Given the description of an element on the screen output the (x, y) to click on. 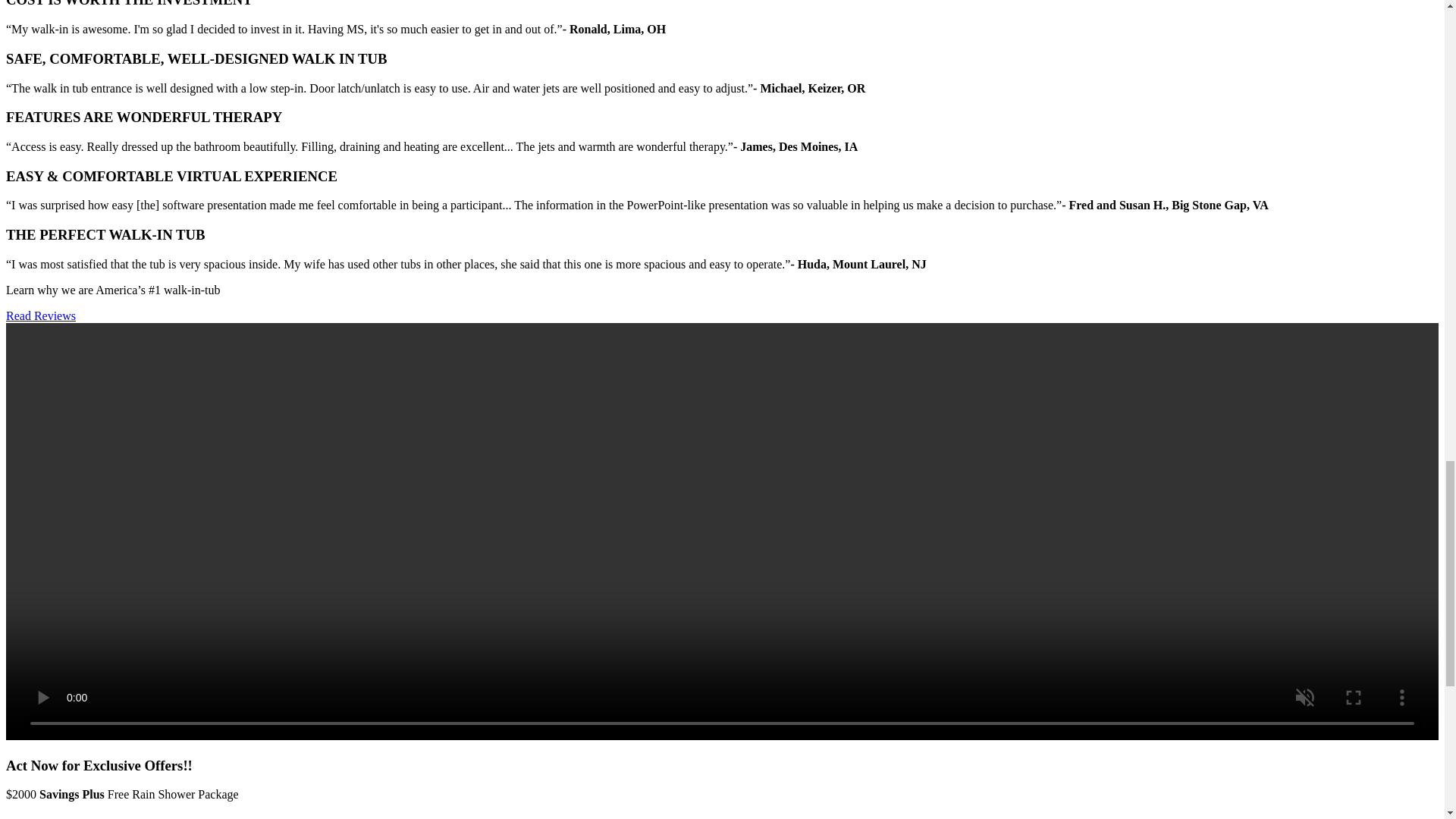
Read Reviews (40, 315)
